Given the description of an element on the screen output the (x, y) to click on. 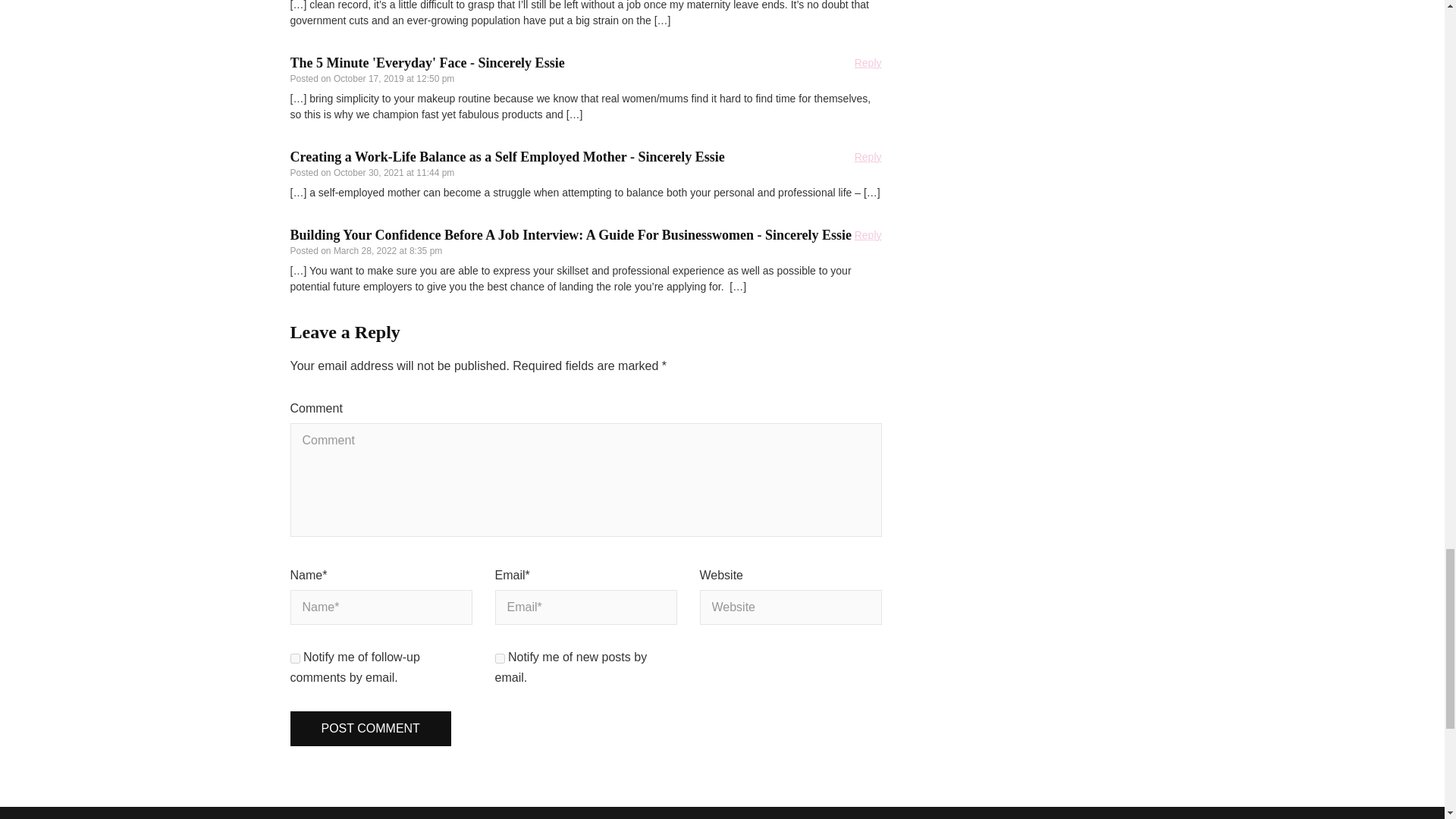
subscribe (499, 658)
subscribe (294, 658)
Post Comment (369, 728)
